Given the description of an element on the screen output the (x, y) to click on. 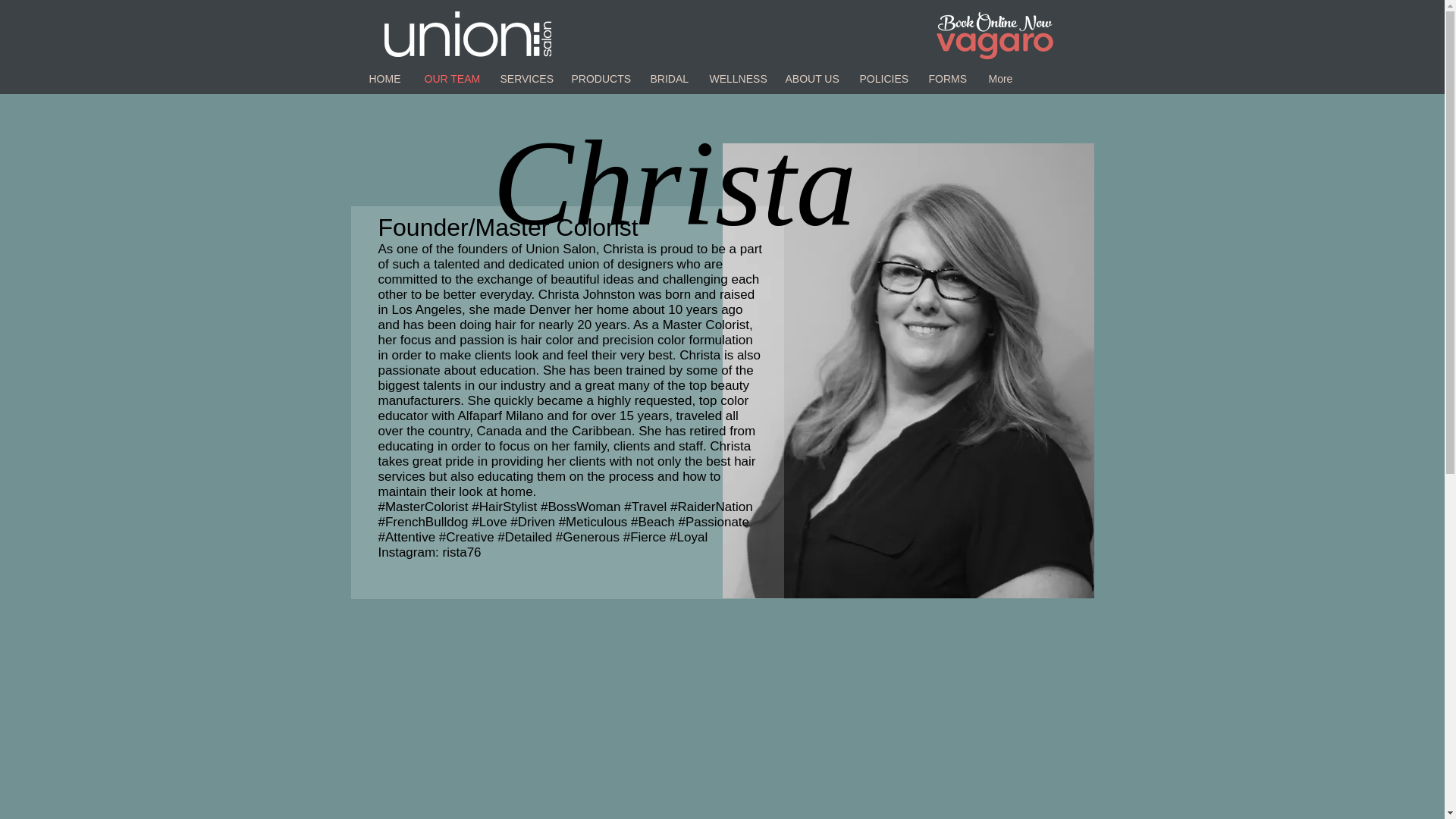
WELLNESS (735, 78)
OUR TEAM (449, 78)
BRIDAL (668, 78)
POLICIES (882, 78)
PRODUCTS (599, 78)
HOME (385, 78)
FORMS (946, 78)
SERVICES (523, 78)
ABOUT US (810, 78)
